Given the description of an element on the screen output the (x, y) to click on. 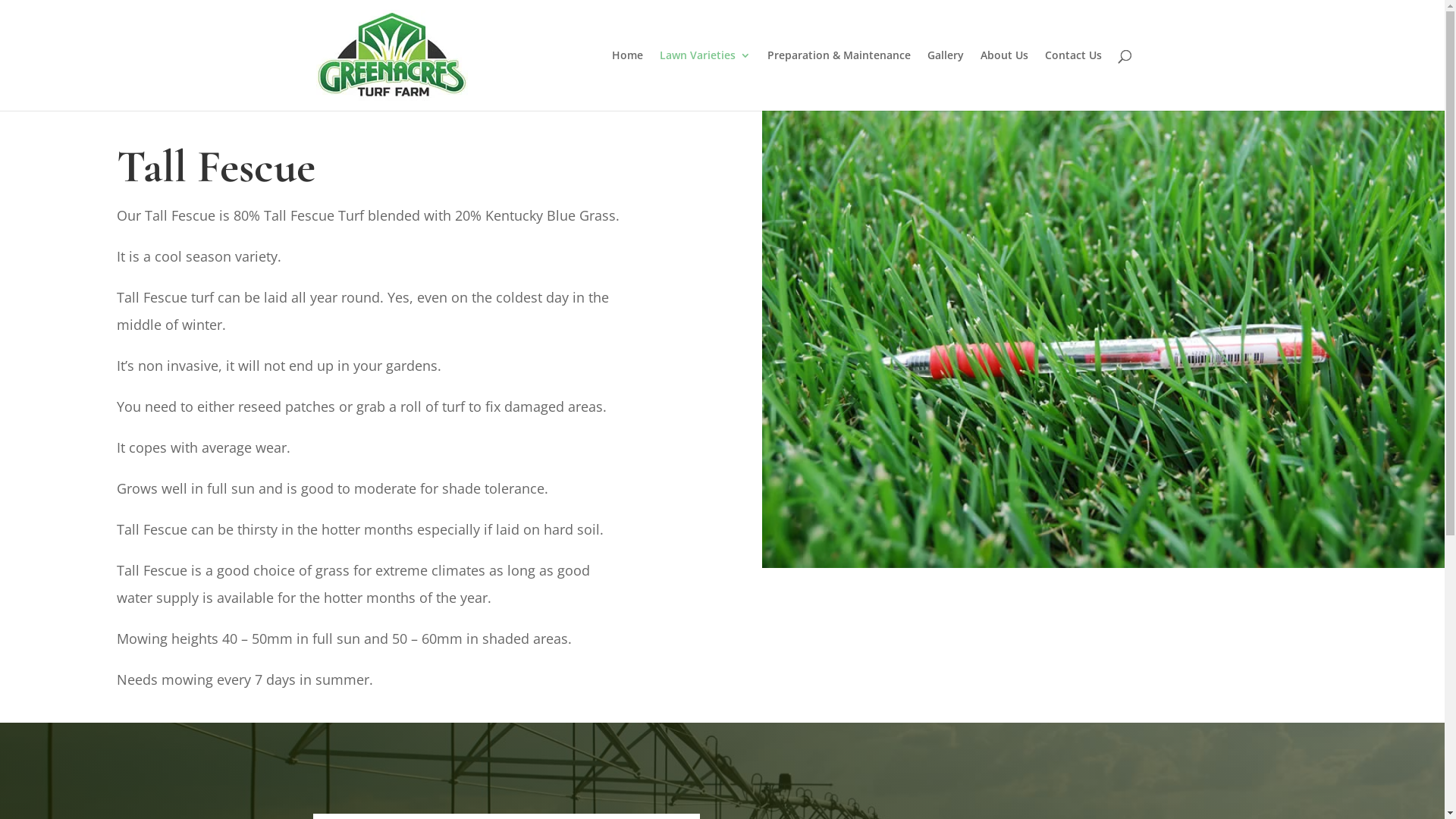
Gallery Element type: text (944, 80)
Preparation & Maintenance Element type: text (838, 80)
Contact Us Element type: text (1072, 80)
Home Element type: text (626, 80)
Lawn Varieties Element type: text (704, 80)
About Us Element type: text (1003, 80)
